Given the description of an element on the screen output the (x, y) to click on. 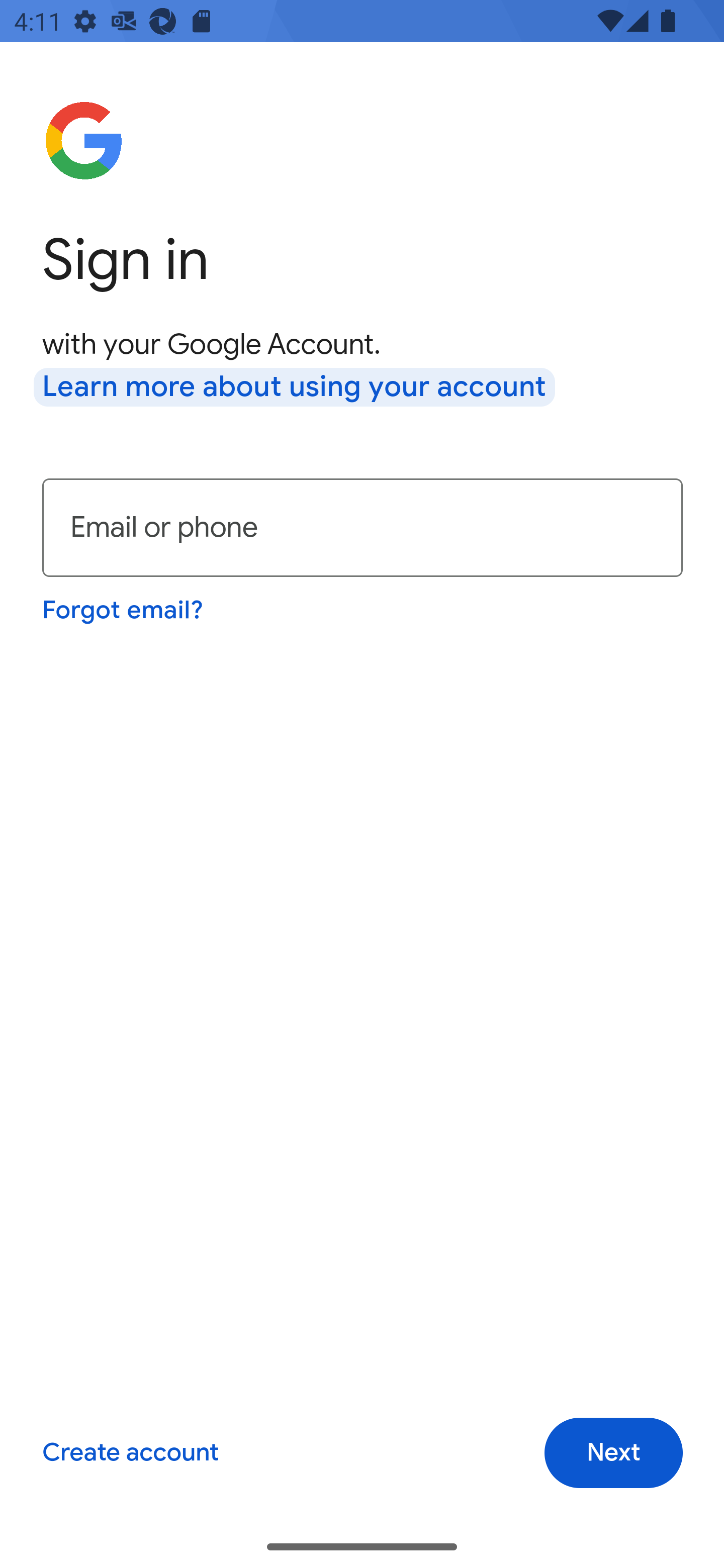
Learn more about using your account (294, 388)
Forgot email? (123, 609)
Next (613, 1453)
Create account (129, 1453)
